Given the description of an element on the screen output the (x, y) to click on. 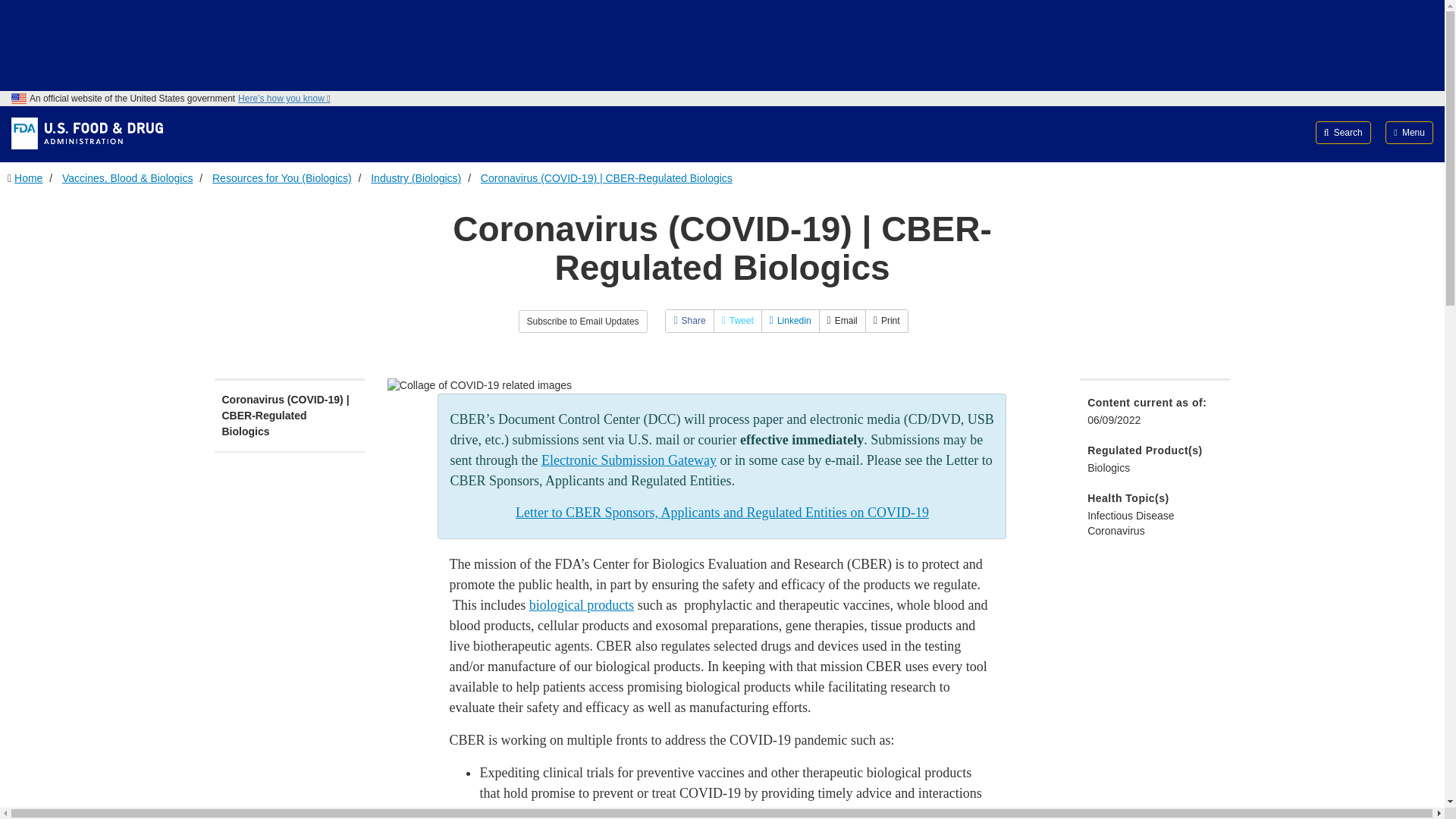
Electronic Submissions Gateway (628, 459)
Print this page (886, 320)
  Search (1343, 132)
  Menu (1409, 132)
